Given the description of an element on the screen output the (x, y) to click on. 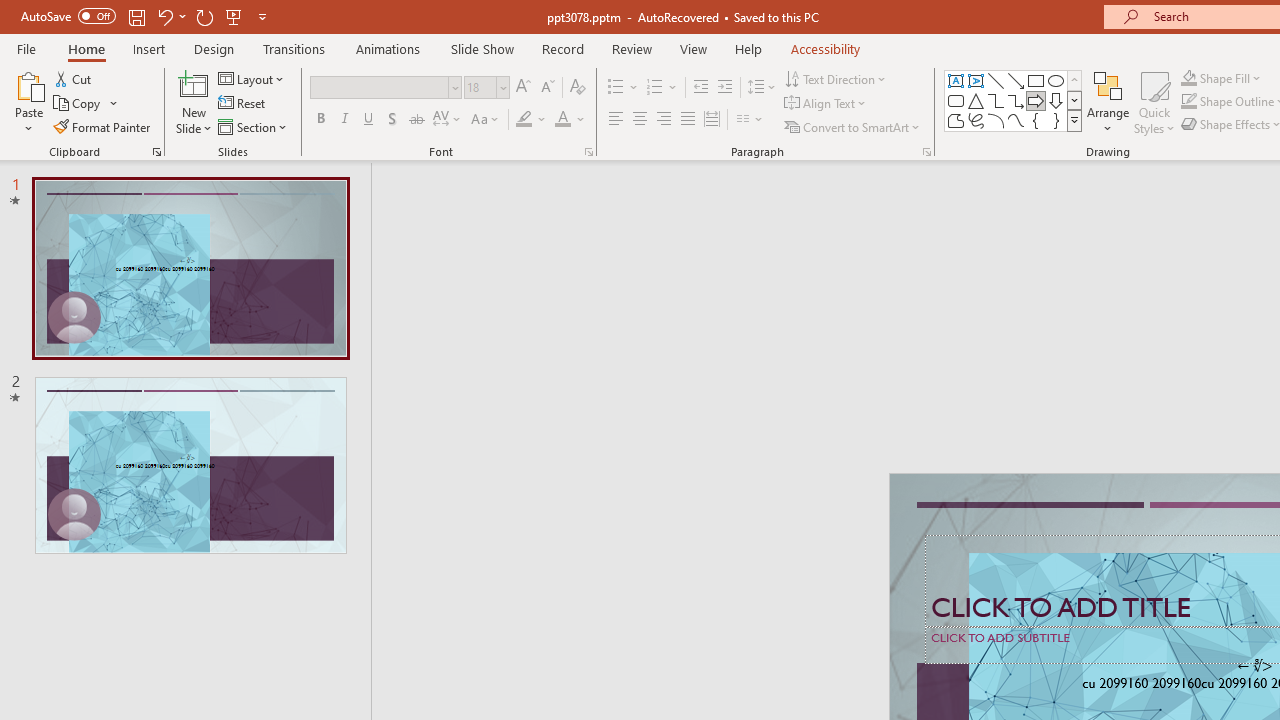
Search (Ctrl+Shift+F) (135, 466)
Explorer actions (390, 322)
Source Control (Ctrl+Shift+G) (135, 544)
Views and More Actions... (442, 321)
wangyian_dsw - DSW (42, 321)
